Given the description of an element on the screen output the (x, y) to click on. 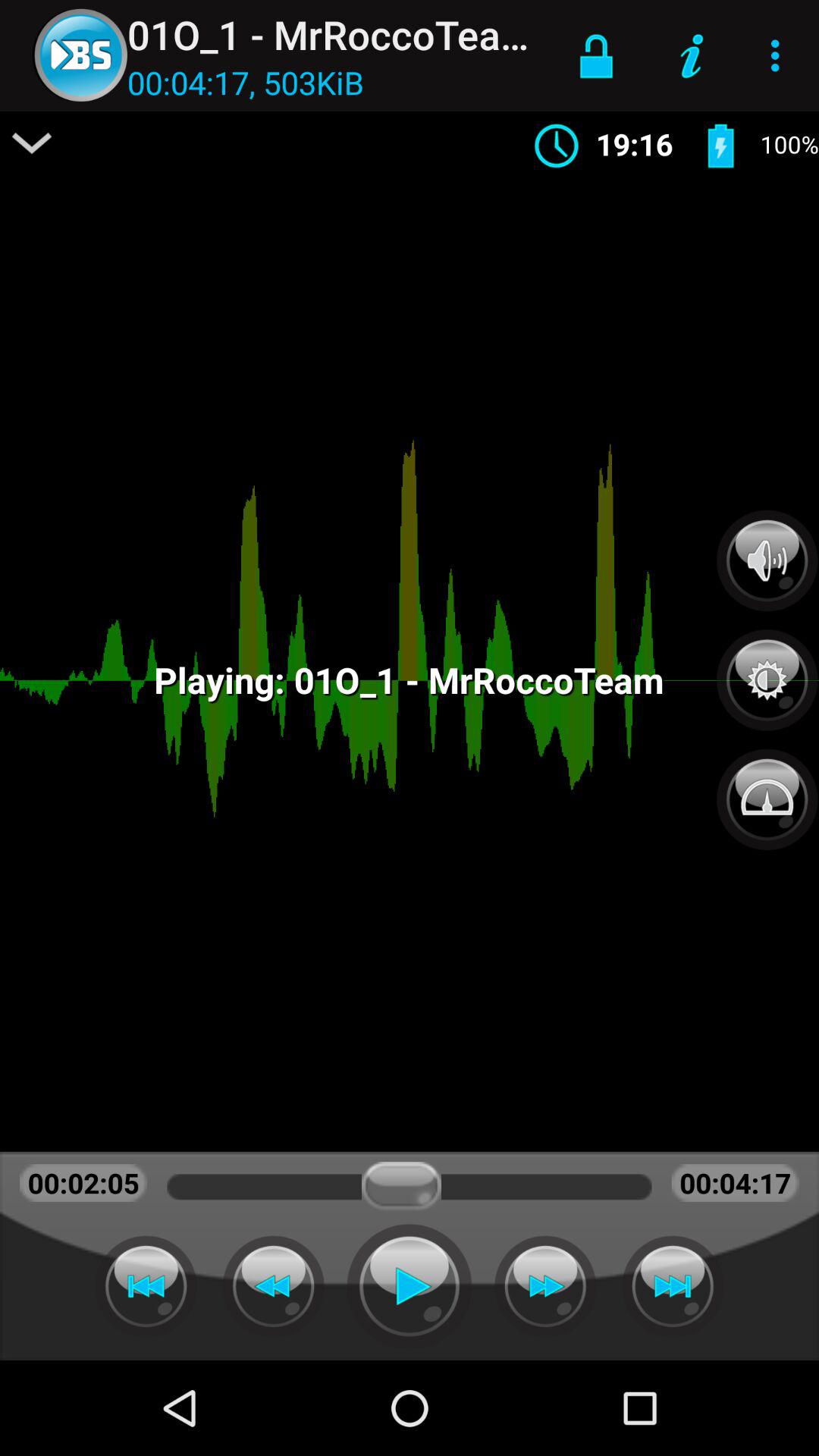
go backwards in audio (145, 1286)
